Given the description of an element on the screen output the (x, y) to click on. 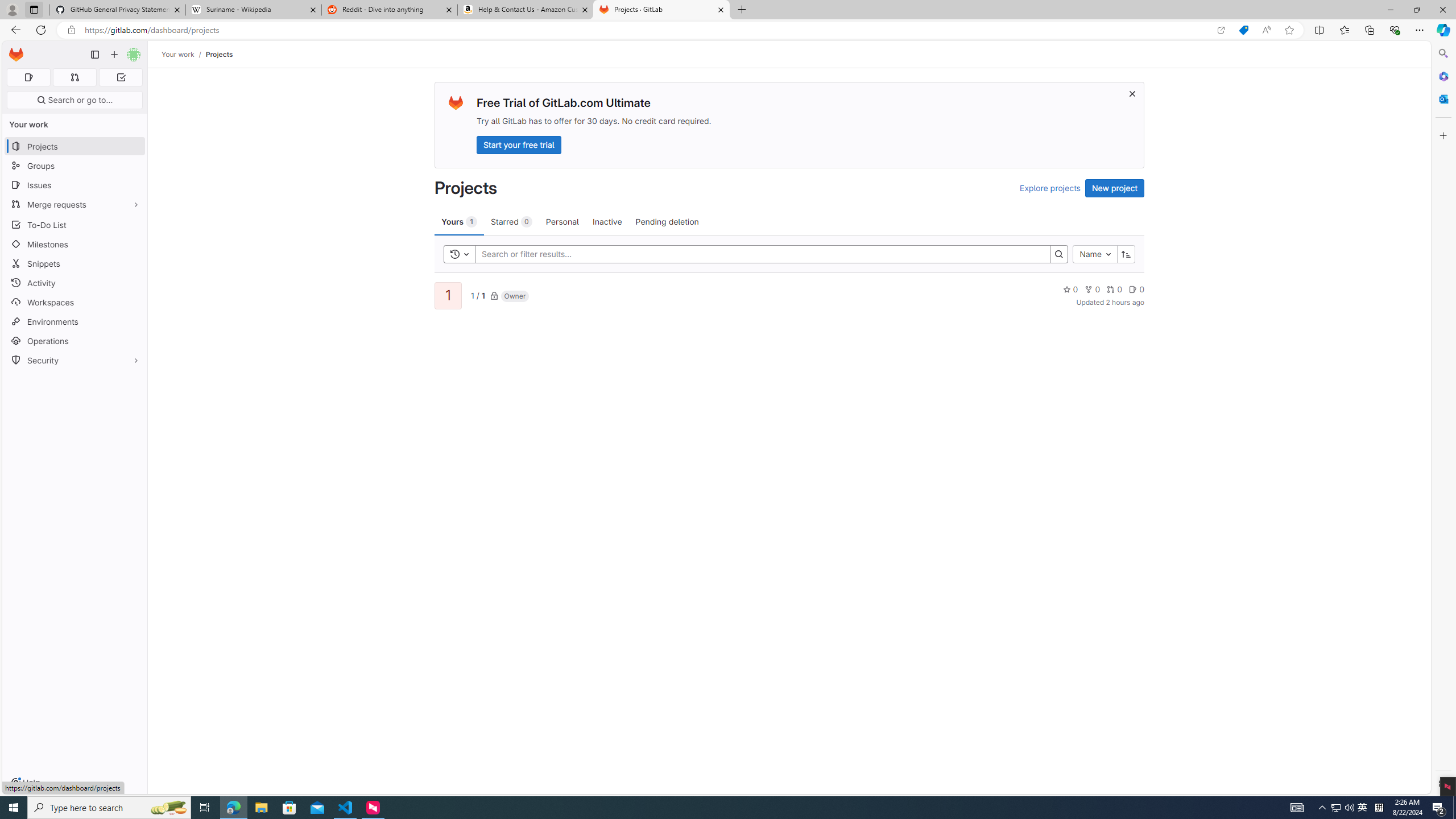
Pending deletion (667, 221)
Milestones (74, 244)
New project (1114, 187)
Explore projects (1049, 187)
Activity (74, 282)
To-Do list 0 (120, 76)
